Given the description of an element on the screen output the (x, y) to click on. 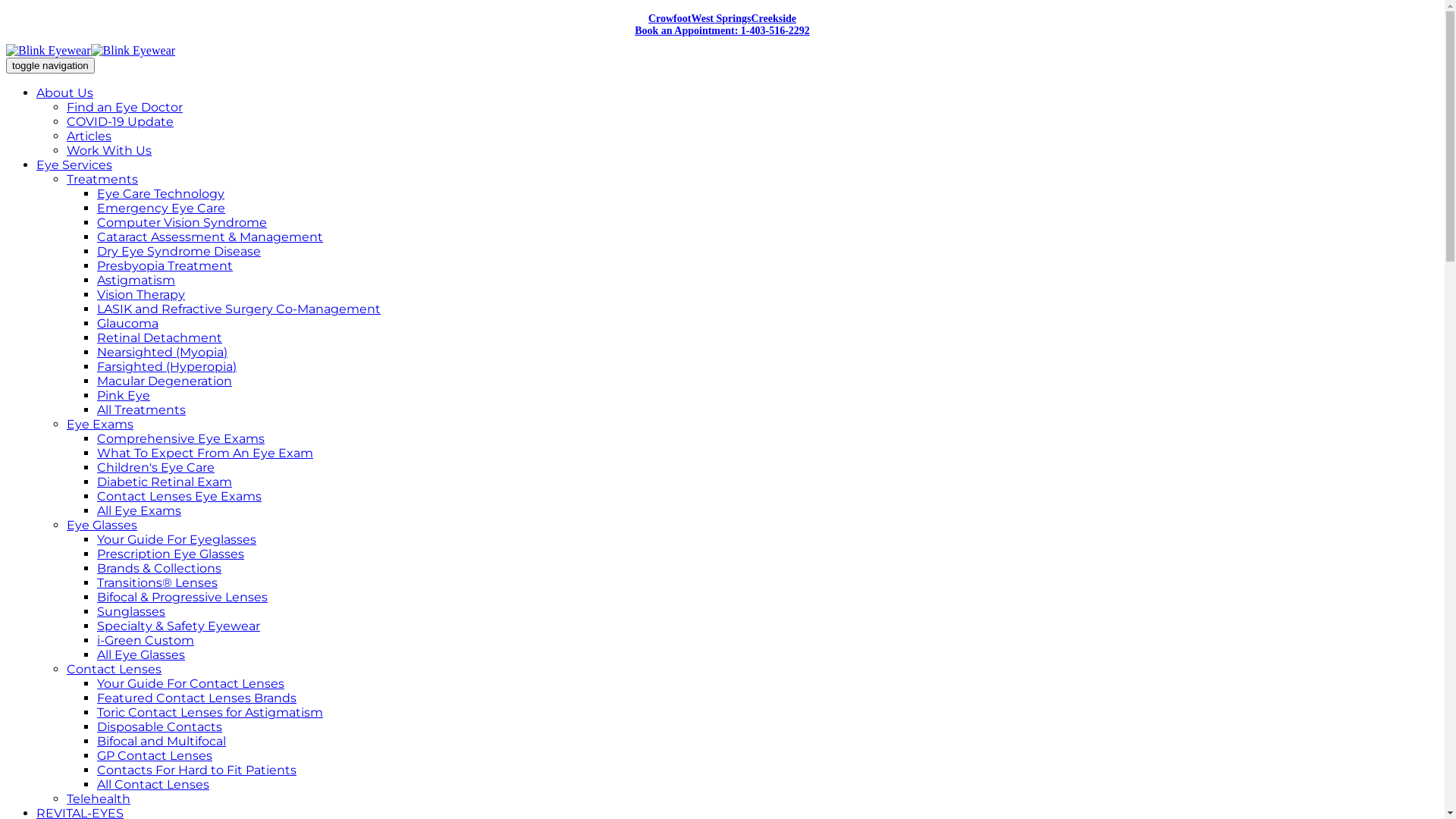
GP Contact Lenses Element type: text (154, 755)
toggle navigation Element type: text (50, 65)
Eye Care Technology Element type: text (160, 193)
LASIK and Refractive Surgery Co-Management Element type: text (238, 308)
All Eye Glasses Element type: text (141, 654)
Crowfoot Element type: text (669, 18)
Treatments Element type: text (102, 179)
Children's Eye Care Element type: text (155, 467)
All Treatments Element type: text (141, 409)
Creekside Element type: text (773, 18)
West Springs Element type: text (720, 18)
What To Expect From An Eye Exam Element type: text (205, 452)
i-Green Custom Element type: text (145, 640)
Your Guide For Eyeglasses Element type: text (176, 539)
Telehealth Element type: text (98, 798)
Eye Exams Element type: text (99, 424)
Nearsighted (Myopia) Element type: text (162, 352)
All Eye Exams Element type: text (139, 510)
Cataract Assessment & Management Element type: text (210, 236)
Sunglasses Element type: text (131, 611)
Specialty & Safety Eyewear Element type: text (178, 625)
Your Guide For Contact Lenses Element type: text (190, 683)
Macular Degeneration Element type: text (164, 380)
Book an Appointment: 1-403-516-2292 Element type: text (721, 30)
Eye Glasses Element type: text (101, 524)
Bifocal & Progressive Lenses Element type: text (182, 596)
All Contact Lenses Element type: text (153, 784)
Blink Eyewear Element type: hover (90, 49)
Comprehensive Eye Exams Element type: text (180, 438)
Astigmatism Element type: text (136, 280)
Bifocal and Multifocal Element type: text (161, 741)
Find an Eye Doctor Element type: text (124, 107)
Disposable Contacts Element type: text (159, 726)
Brands & Collections Element type: text (159, 568)
Contact Lenses Element type: text (113, 669)
Farsighted (Hyperopia) Element type: text (166, 366)
Contacts For Hard to Fit Patients Element type: text (196, 769)
Prescription Eye Glasses Element type: text (170, 553)
Work With Us Element type: text (108, 150)
Presbyopia Treatment Element type: text (164, 265)
Contact Lenses Eye Exams Element type: text (179, 496)
Dry Eye Syndrome Disease Element type: text (178, 251)
Pink Eye Element type: text (123, 395)
Eye Services Element type: text (74, 164)
Diabetic Retinal Exam Element type: text (164, 481)
Articles Element type: text (88, 135)
Toric Contact Lenses for Astigmatism Element type: text (210, 712)
About Us Element type: text (64, 92)
Computer Vision Syndrome Element type: text (181, 222)
Emergency Eye Care Element type: text (161, 207)
Vision Therapy Element type: text (141, 294)
Featured Contact Lenses Brands Element type: text (196, 697)
Retinal Detachment Element type: text (159, 337)
COVID-19 Update Element type: text (119, 121)
Glaucoma Element type: text (127, 323)
